Given the description of an element on the screen output the (x, y) to click on. 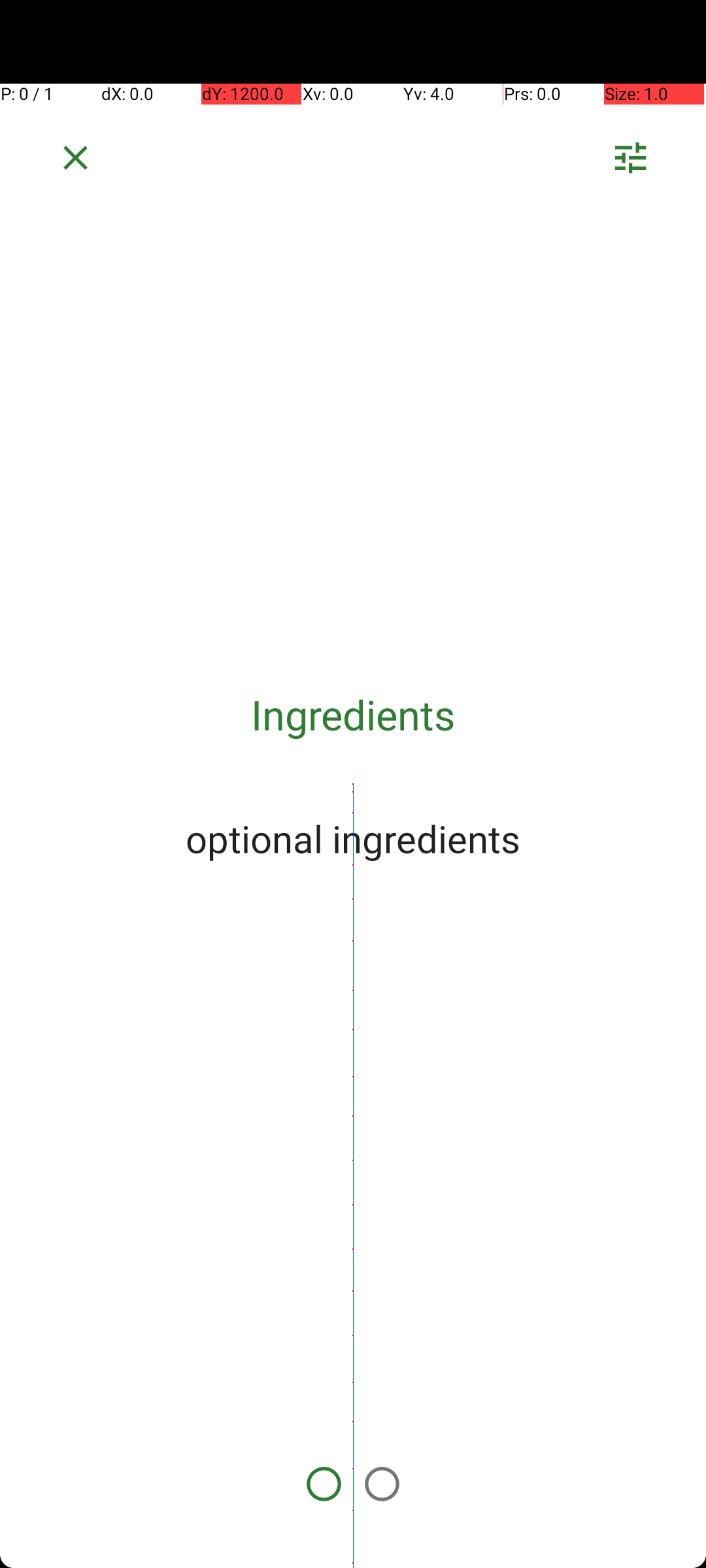
optional ingredients Element type: android.widget.TextView (353, 838)
